Given the description of an element on the screen output the (x, y) to click on. 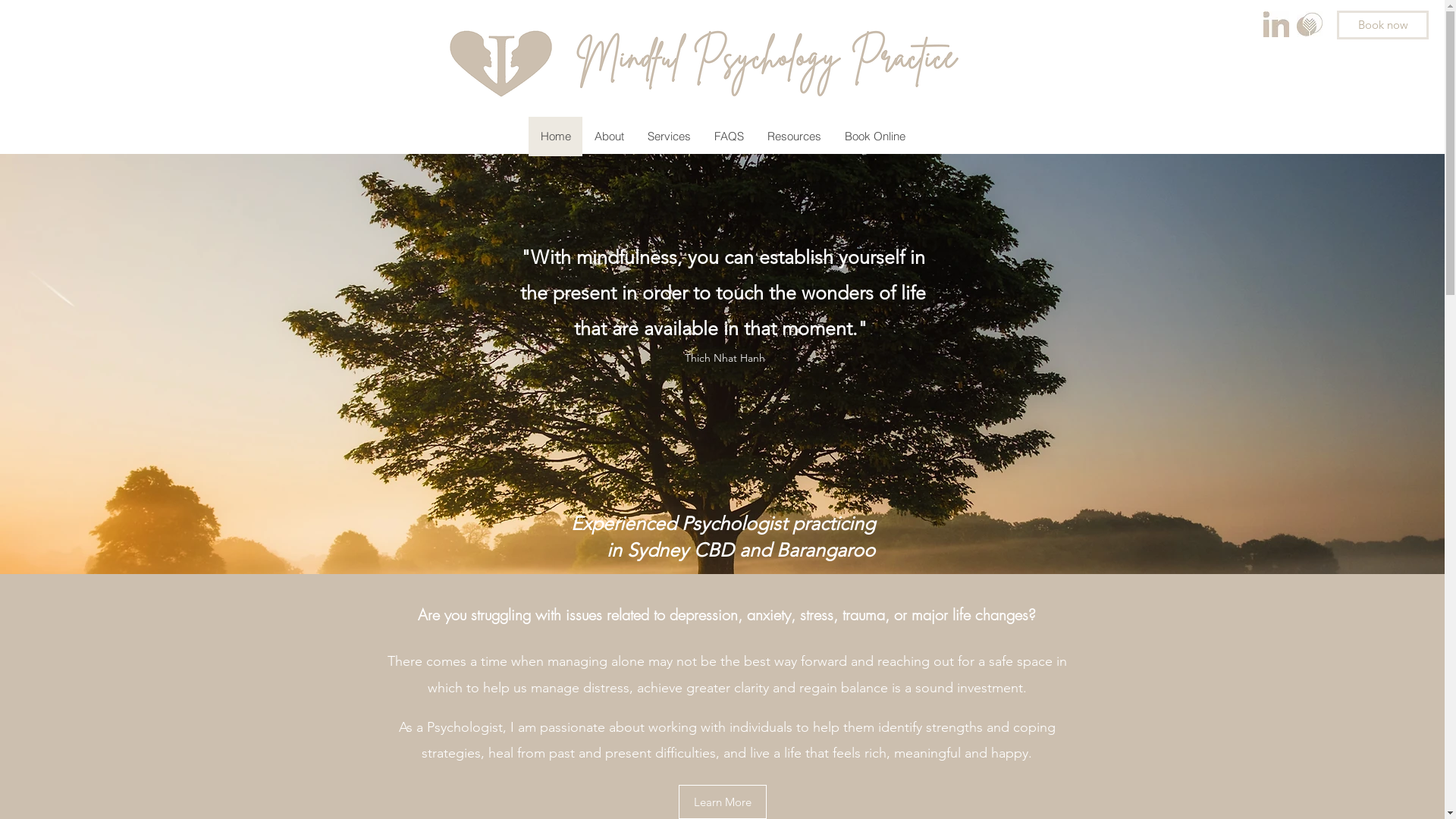
Services Element type: text (668, 136)
Resources Element type: text (793, 136)
About Element type: text (608, 136)
Book now Element type: text (1382, 24)
Book Online Element type: text (874, 136)
Home Element type: text (554, 136)
FAQS Element type: text (728, 136)
